Given the description of an element on the screen output the (x, y) to click on. 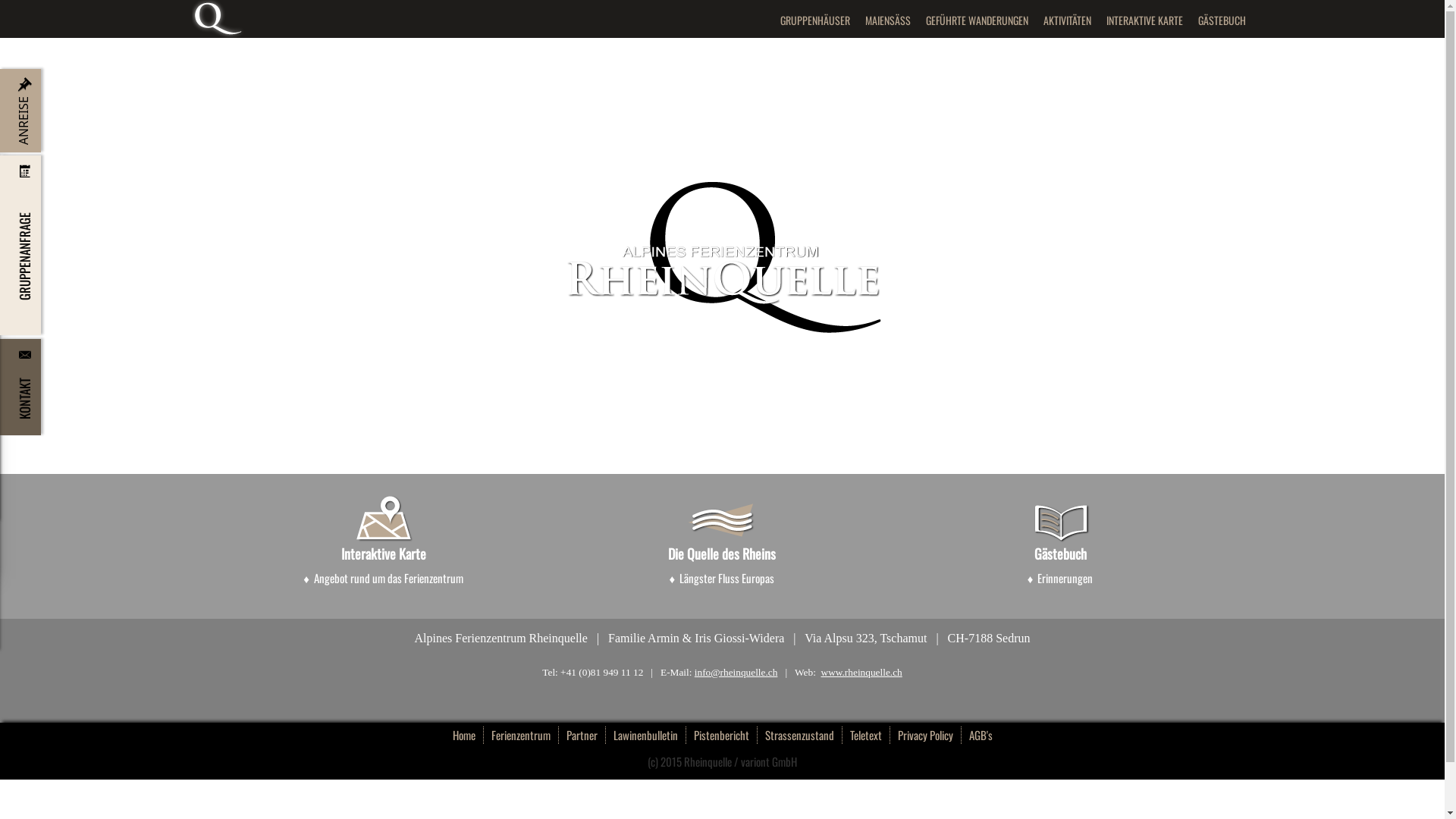
Facebook Element type: hover (1202, 68)
INTERAKTIVE KARTE Element type: text (1143, 20)
Strassenzustand Element type: text (798, 734)
www.rheinquelle.ch Element type: text (861, 671)
Privacy Policy Element type: text (925, 734)
Lawinenbulletin Element type: text (645, 734)
Interaktive Karte Element type: text (383, 553)
Teletext Element type: text (865, 734)
Ferienzentrum Element type: text (520, 734)
YouTube Element type: hover (1237, 68)
Partner Element type: text (581, 734)
Pistenbericht Element type: text (720, 734)
info@rheinquelle.ch Element type: text (736, 671)
AGB's Element type: text (980, 734)
Home Element type: text (463, 734)
